Given the description of an element on the screen output the (x, y) to click on. 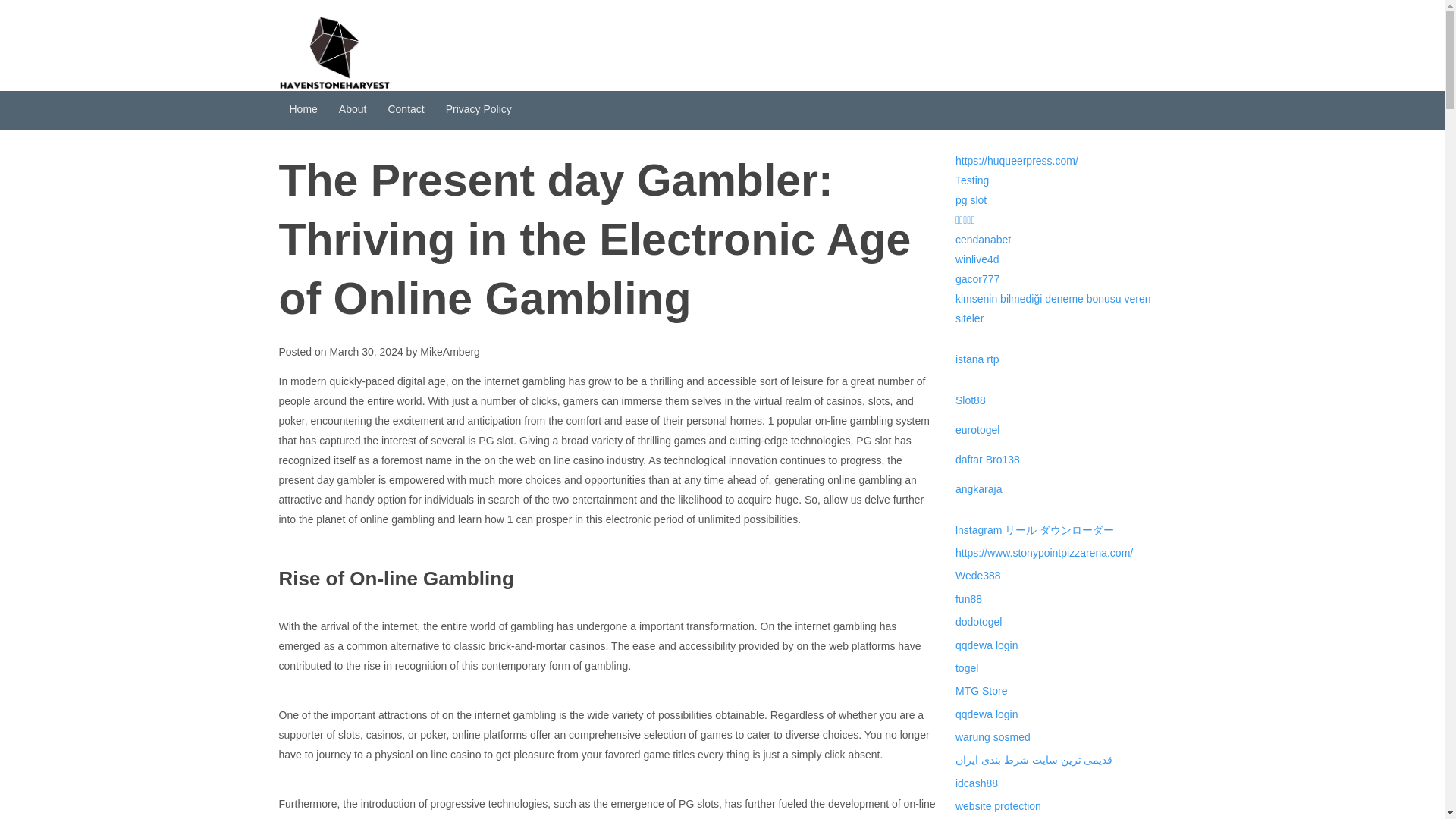
warung sosmed (992, 736)
idcash88 (976, 783)
Wede388 (978, 575)
istana rtp (976, 358)
Contact (405, 109)
website protection (998, 806)
Home (304, 109)
MikeAmberg (450, 351)
angkaraja (979, 489)
fun88 (968, 598)
